Given the description of an element on the screen output the (x, y) to click on. 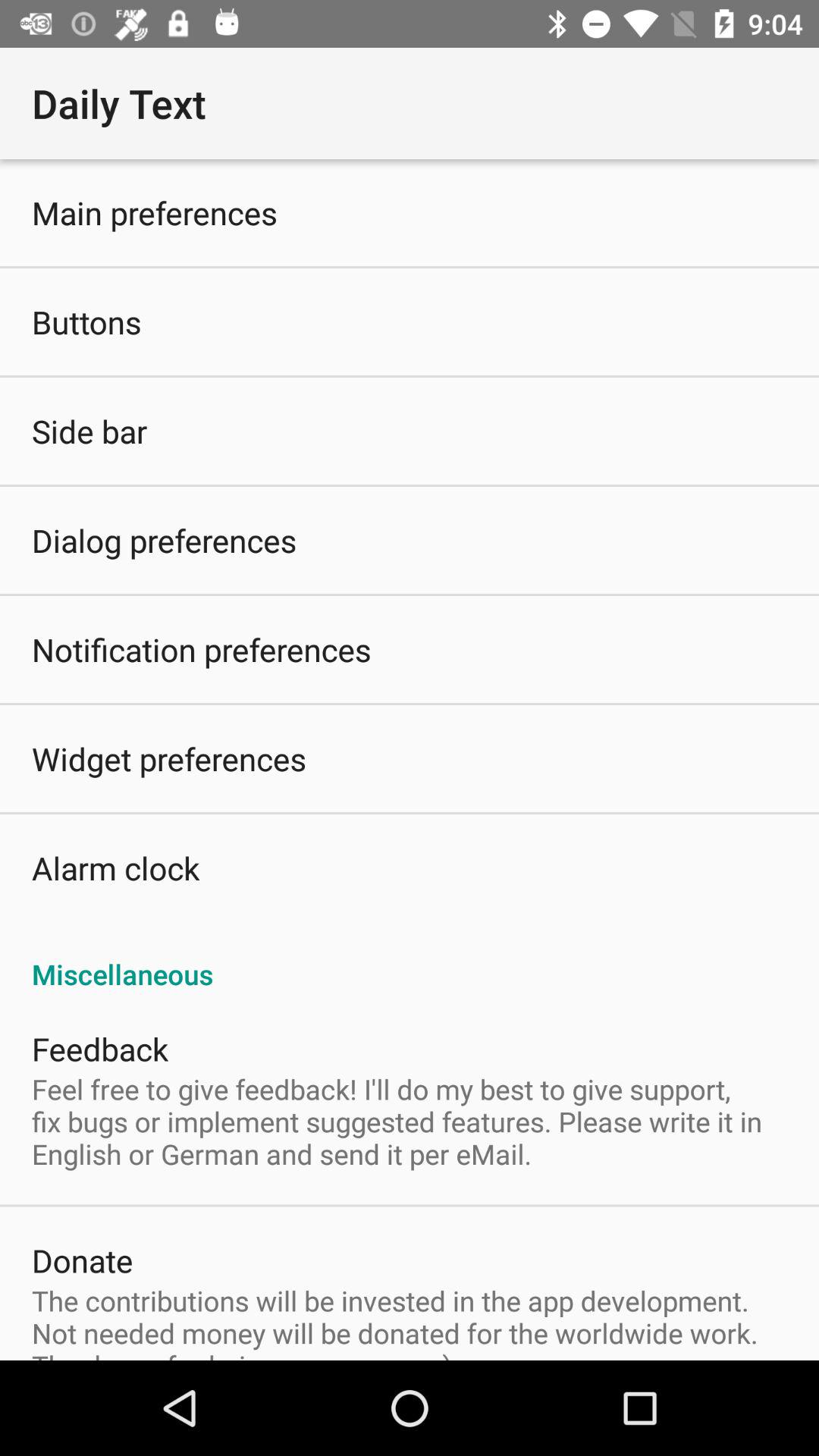
choose miscellaneous (409, 958)
